Given the description of an element on the screen output the (x, y) to click on. 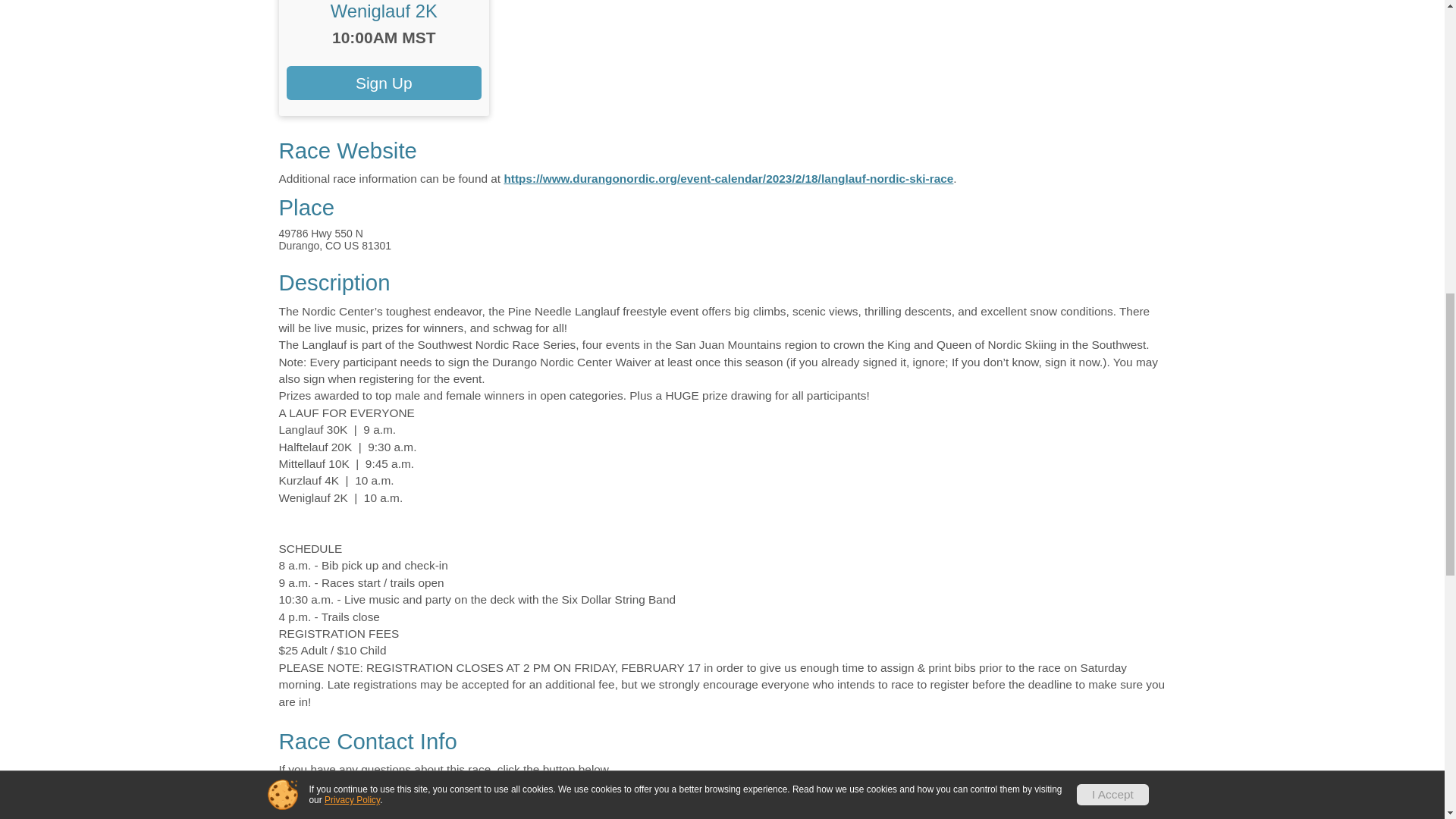
Weniglauf 2K (384, 10)
Sign Up (383, 82)
Questions? (336, 799)
